Given the description of an element on the screen output the (x, y) to click on. 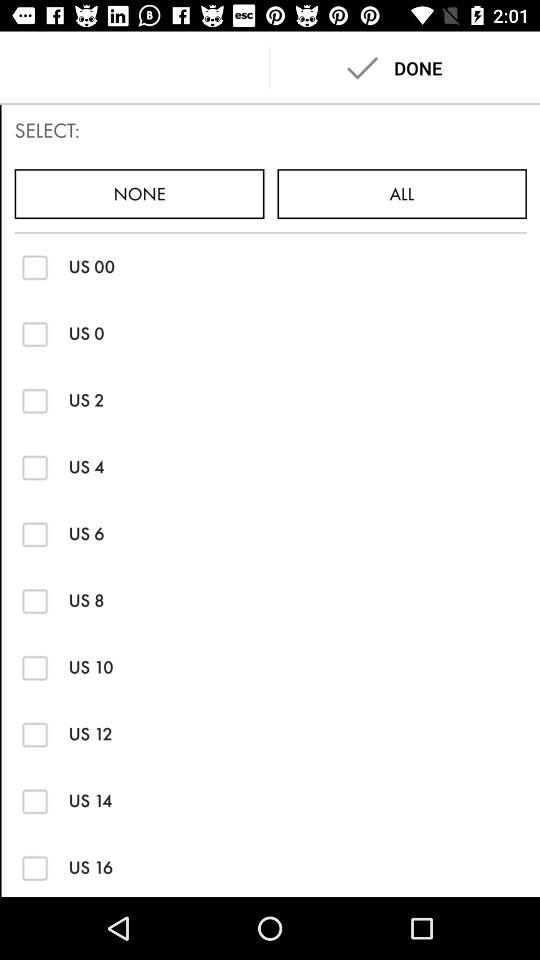
select us 4 (34, 467)
